Given the description of an element on the screen output the (x, y) to click on. 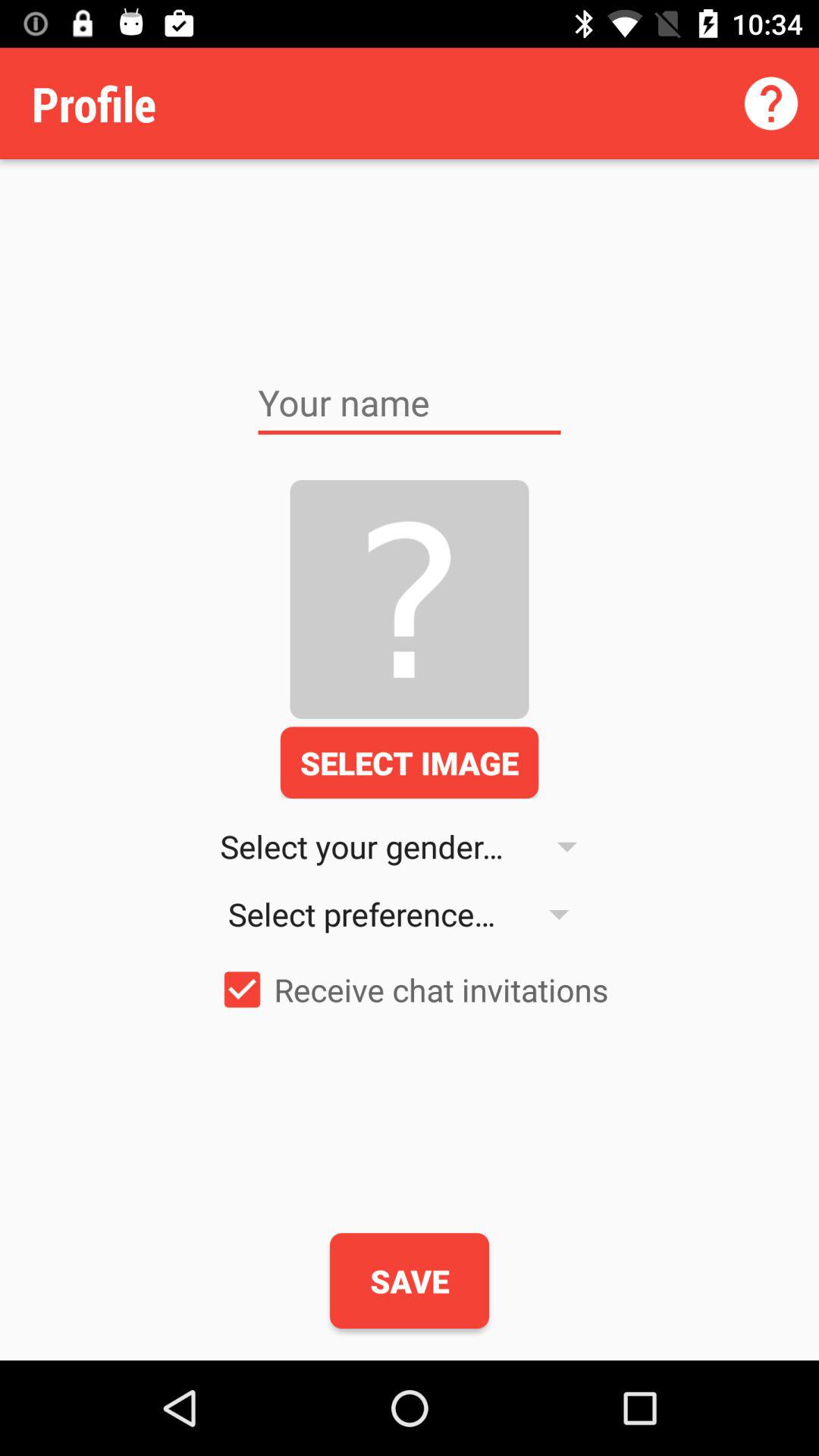
flip to save item (409, 1280)
